Given the description of an element on the screen output the (x, y) to click on. 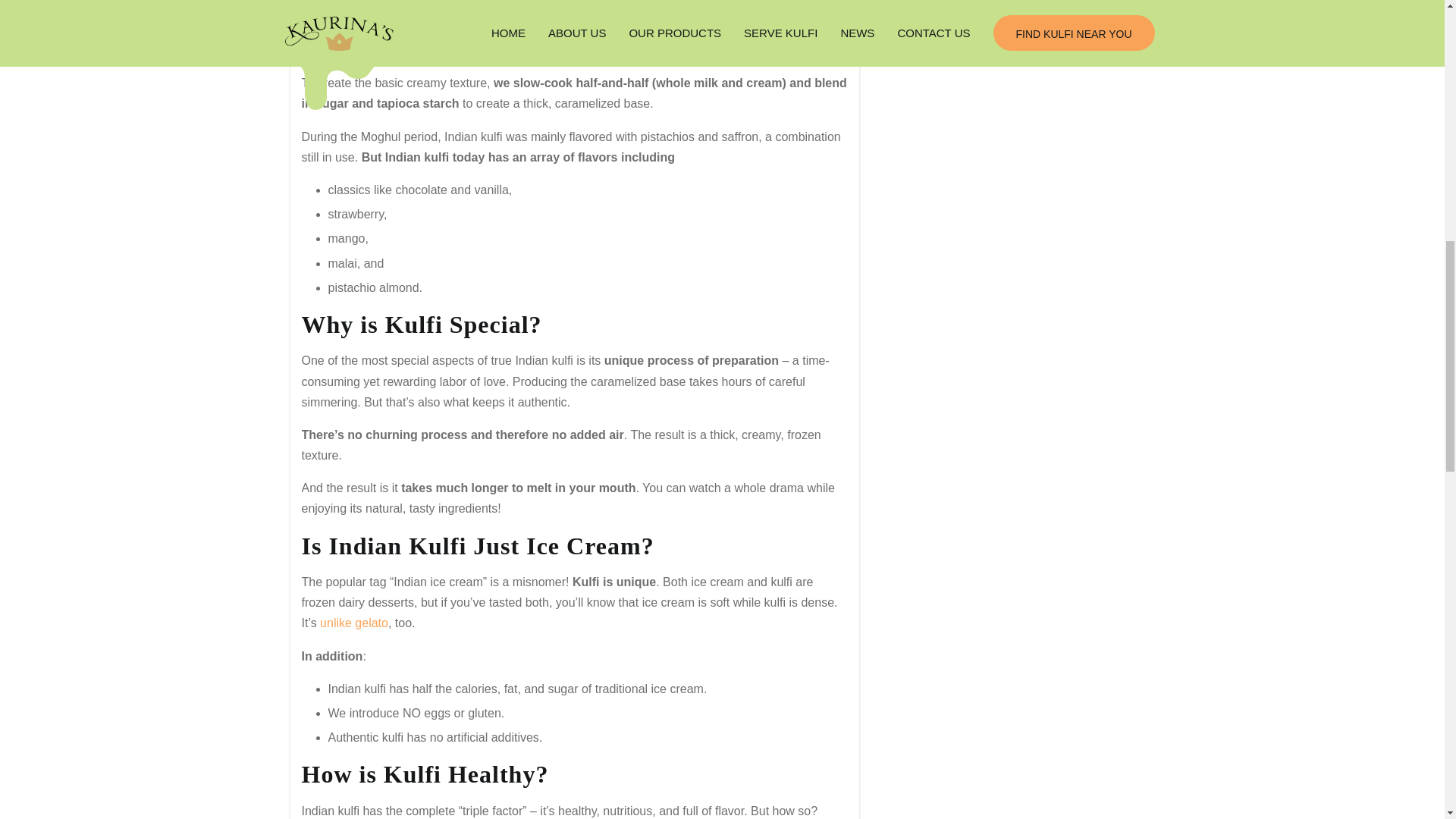
unlike gelato (354, 622)
